Given the description of an element on the screen output the (x, y) to click on. 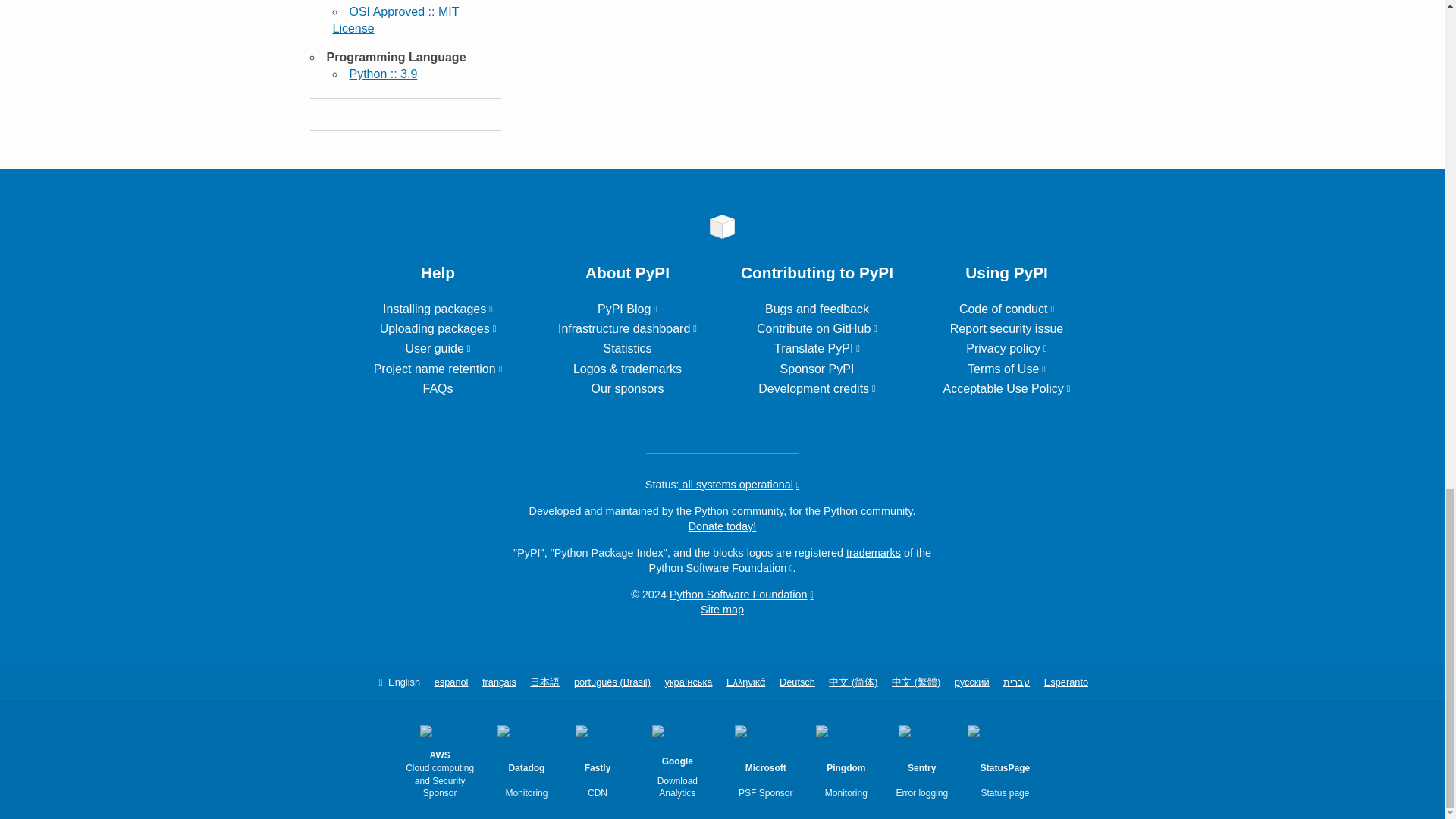
Python :: 3.9 (382, 73)
OSI Approved :: MIT License (394, 19)
